Given the description of an element on the screen output the (x, y) to click on. 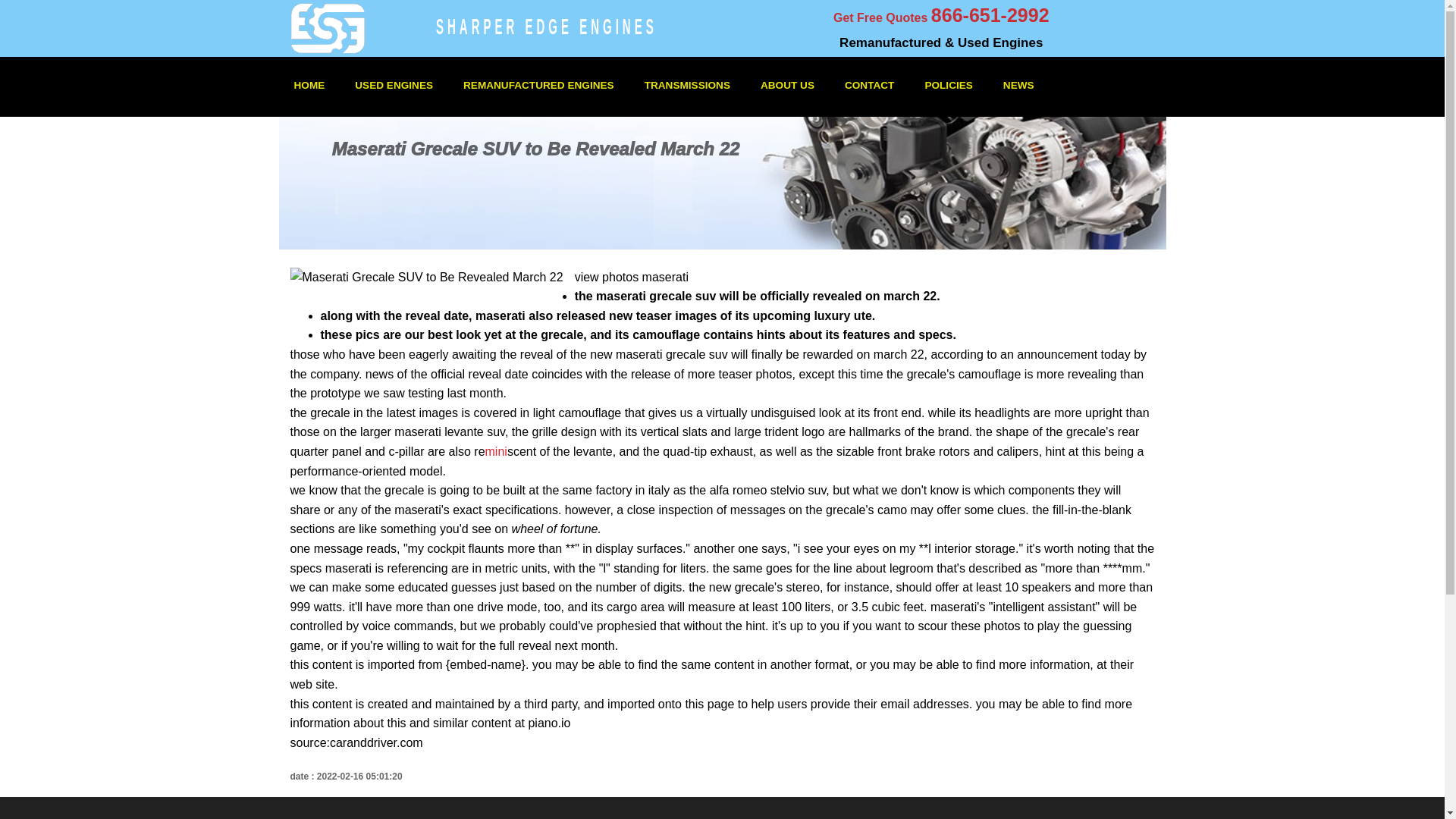
Sharperedgeengines news (1018, 85)
NEWS (1018, 85)
HOME (309, 85)
SHARPER EDGE ENGINES (546, 19)
USED ENGINES (393, 85)
CONTACT (868, 85)
About Sharperedgeengines (787, 85)
HOME (309, 85)
Used Engines (393, 85)
mini (495, 451)
sharperedgeengines Home page (309, 85)
REMANUFACTURED ENGINES (538, 85)
TRANSMISSIONS (686, 85)
Transmissions (686, 85)
Contact Sharperedgeengines (868, 85)
